Given the description of an element on the screen output the (x, y) to click on. 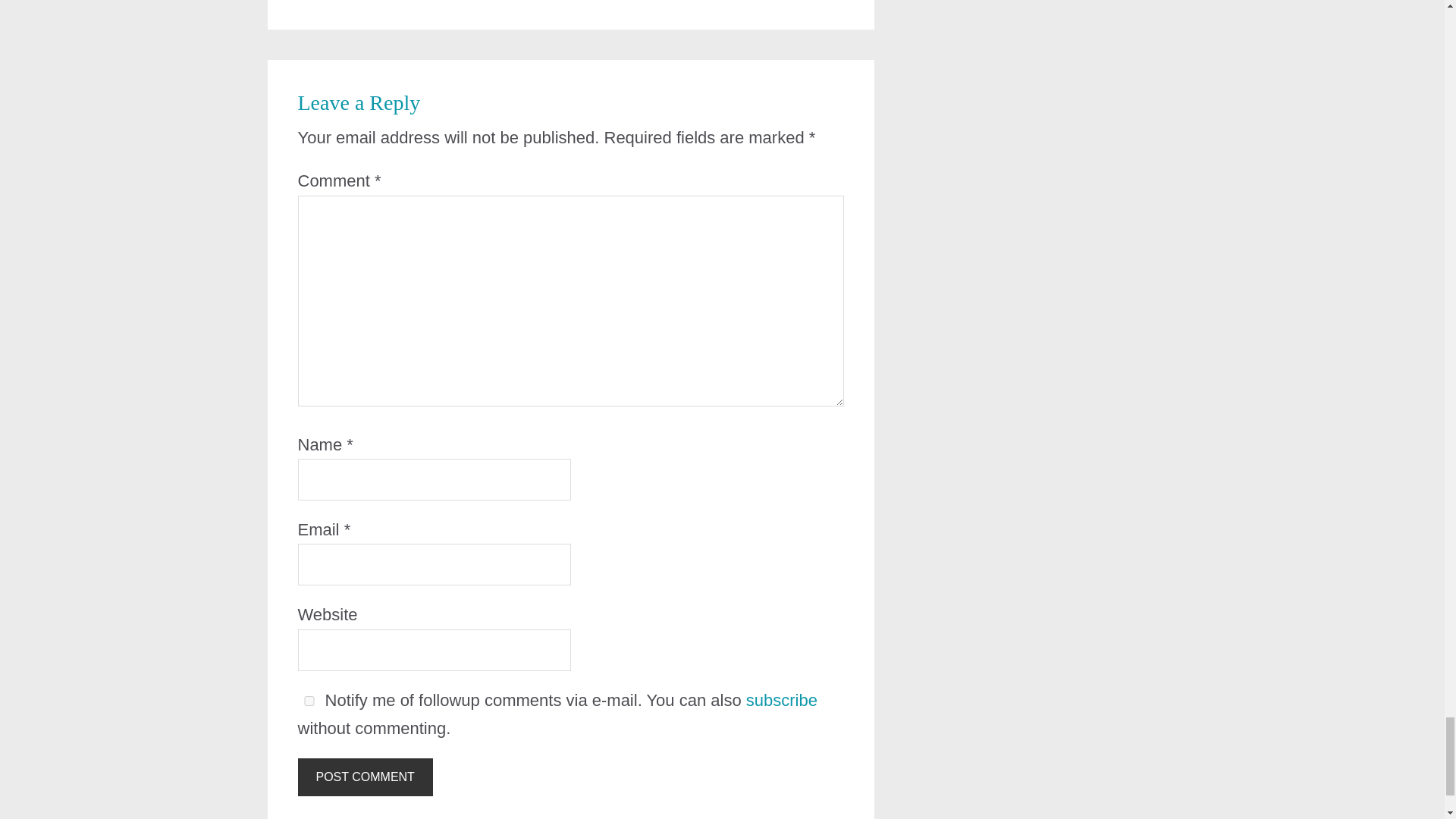
Post Comment (364, 777)
yes (308, 700)
subscribe (780, 700)
Post Comment (364, 777)
